Given the description of an element on the screen output the (x, y) to click on. 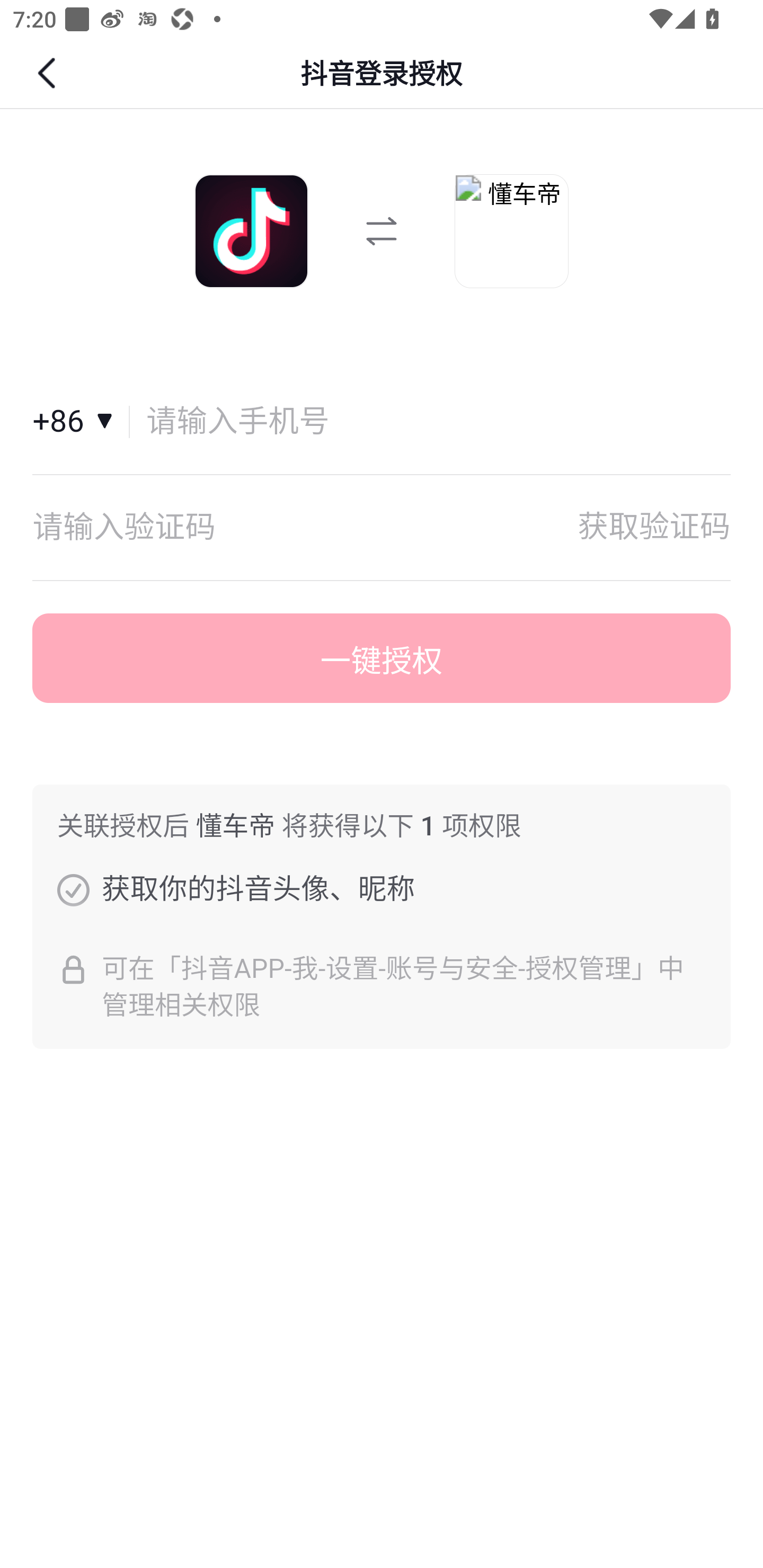
返回 (49, 72)
国家和地区+86 (81, 421)
获取验证码 (653, 526)
一键授权 (381, 658)
获取你的抖音头像、昵称 (72, 889)
